Given the description of an element on the screen output the (x, y) to click on. 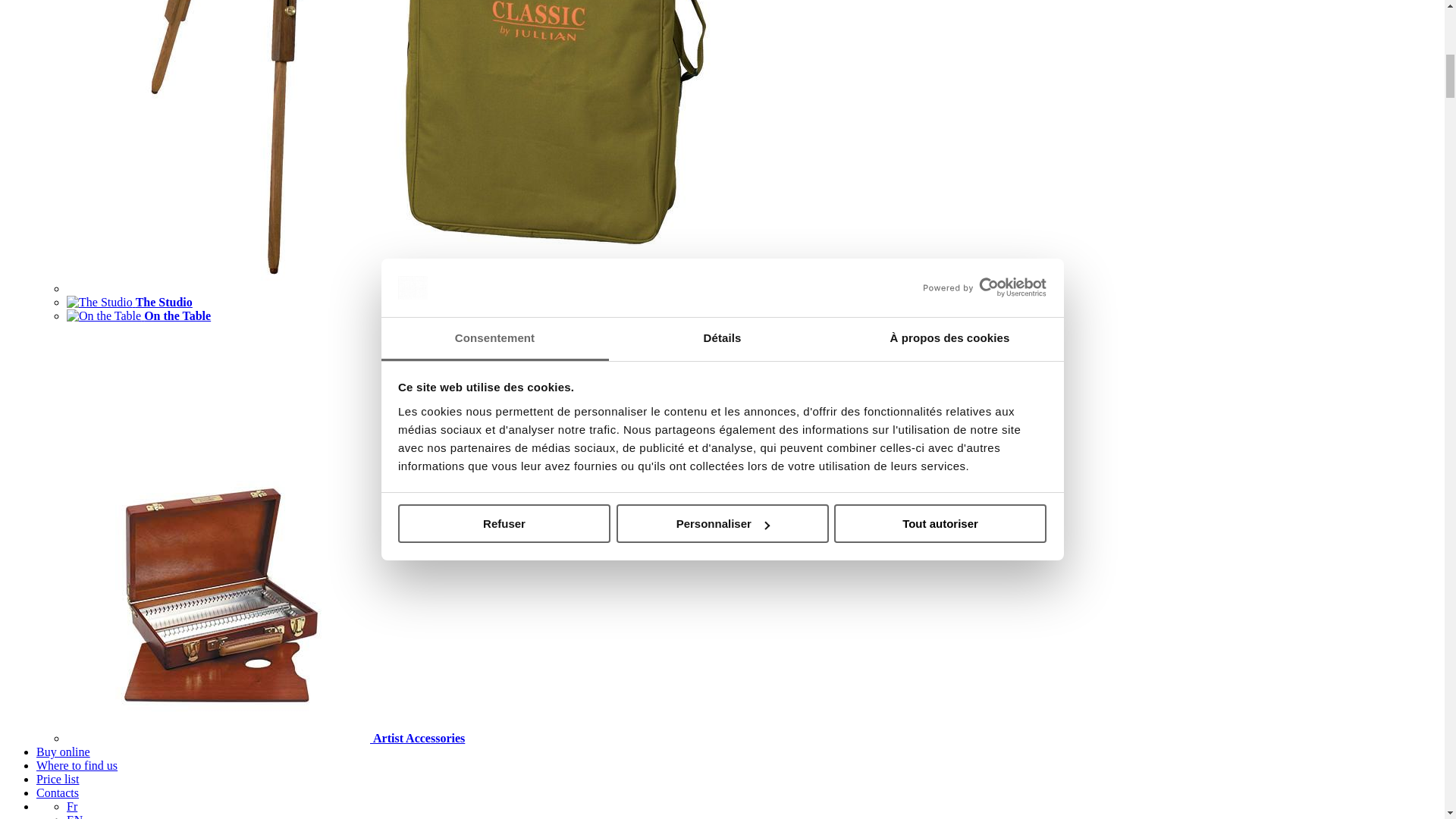
On the Table (138, 315)
Outdoor painting (442, 287)
Artist Accessories (265, 738)
The Studio (129, 301)
